Given the description of an element on the screen output the (x, y) to click on. 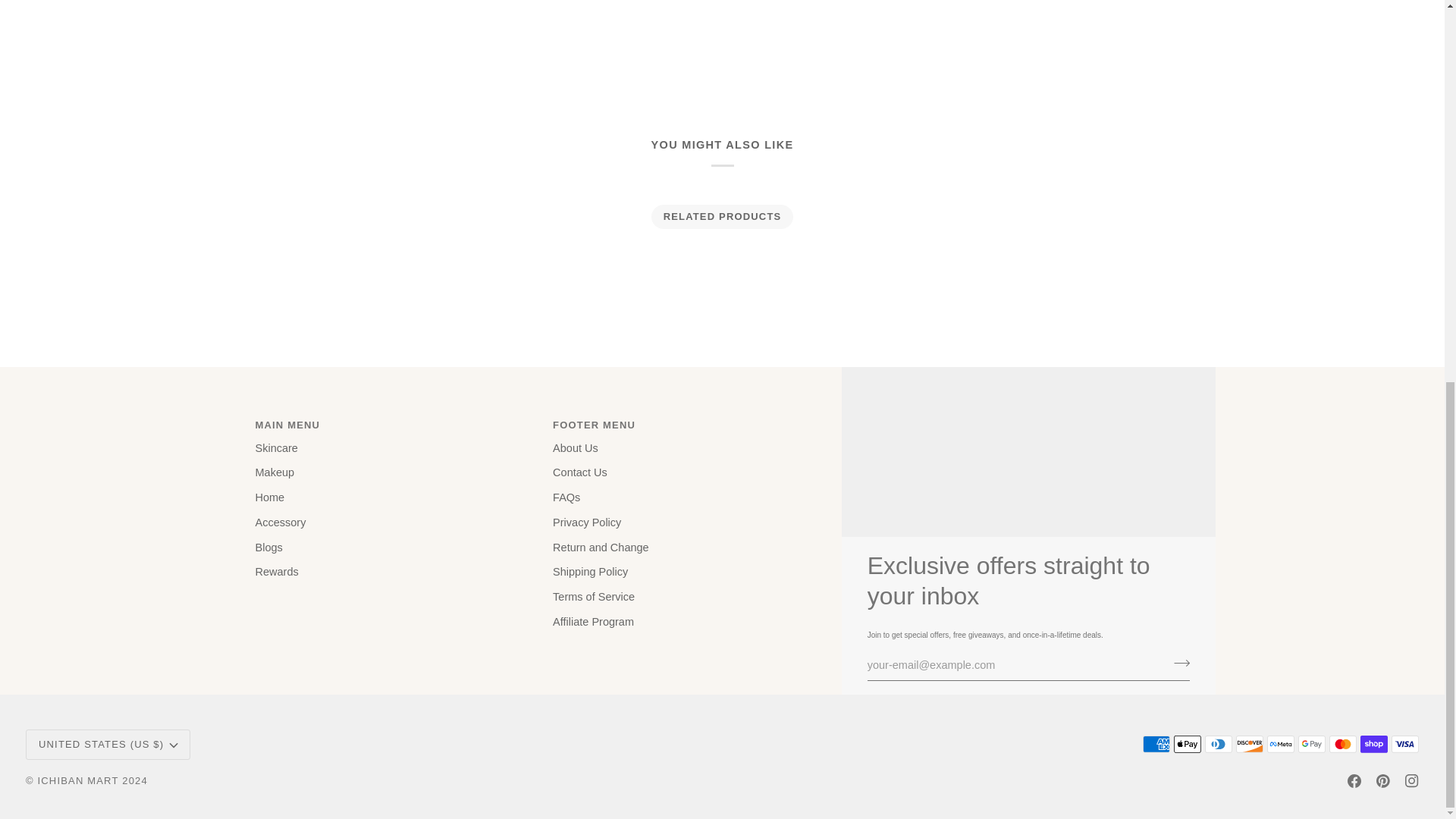
MASTERCARD (1342, 743)
GOOGLE PAY (1311, 743)
APPLE PAY (1187, 743)
RELATED PRODUCTS (721, 216)
Pinterest (1382, 780)
VISA (1404, 743)
Instagram (1411, 780)
META PAY (1280, 743)
Facebook (1354, 780)
DISCOVER (1249, 743)
